Given the description of an element on the screen output the (x, y) to click on. 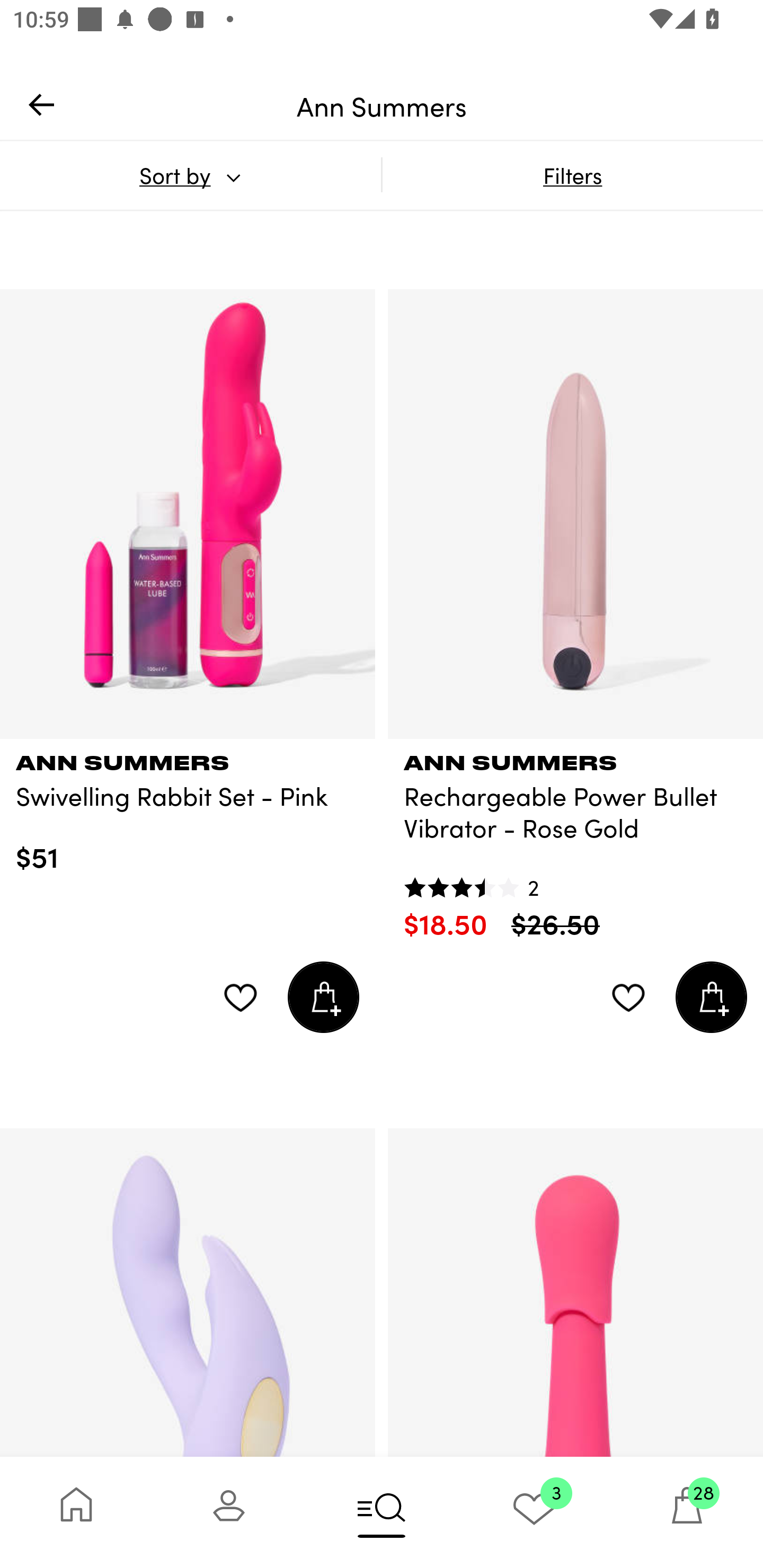
Sort by (190, 174)
Filters (572, 174)
ANN SUMMERS Swivelling Rabbit Set - Pink $51 (187, 806)
3 (533, 1512)
28 (686, 1512)
